Given the description of an element on the screen output the (x, y) to click on. 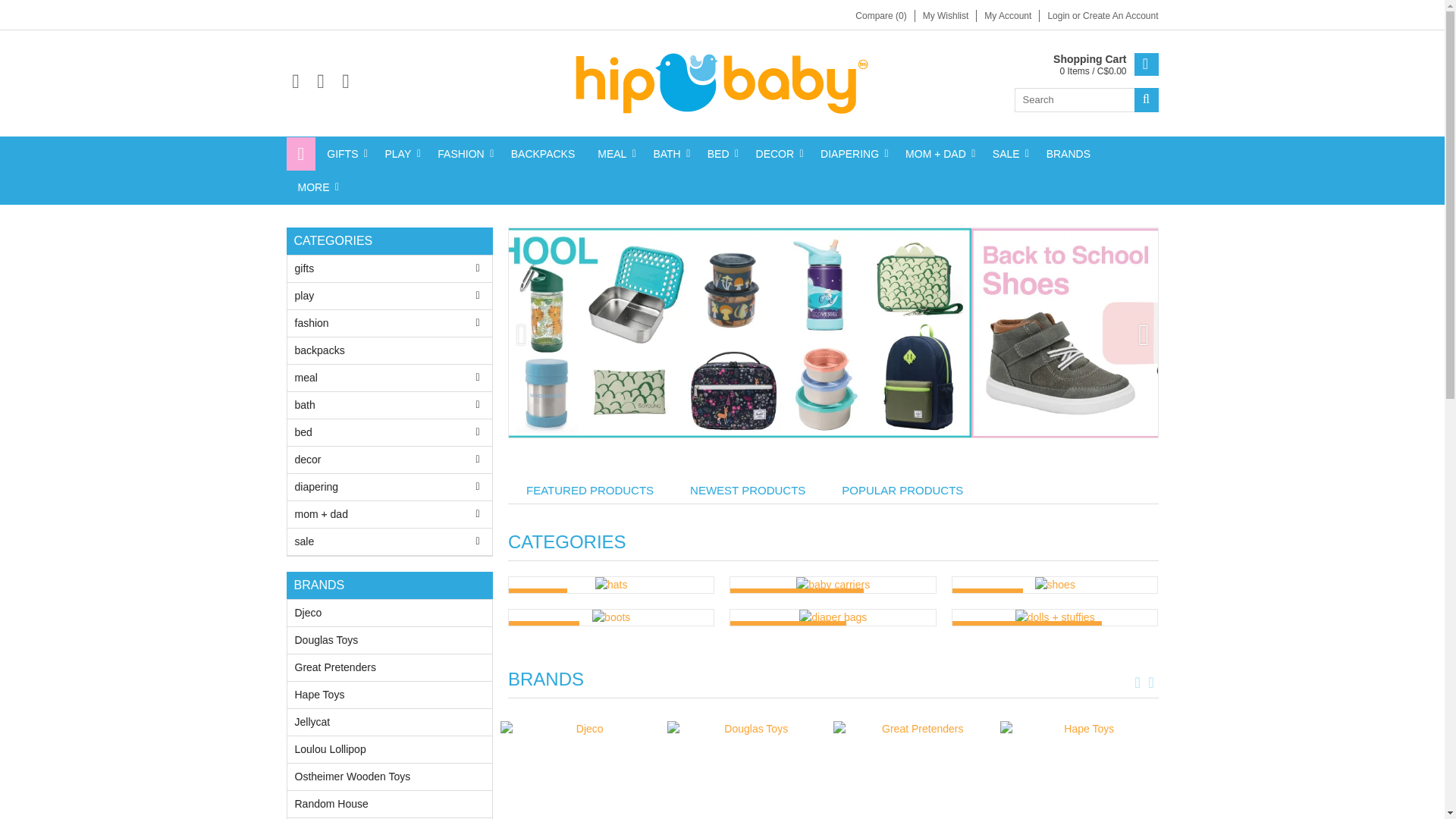
PLAY (399, 153)
My Wishlist (946, 15)
Cart (1104, 64)
GIFTS (343, 153)
Login (1058, 15)
Create An Account (1120, 15)
My account (1058, 15)
gifts (343, 153)
Search (1146, 99)
